Given the description of an element on the screen output the (x, y) to click on. 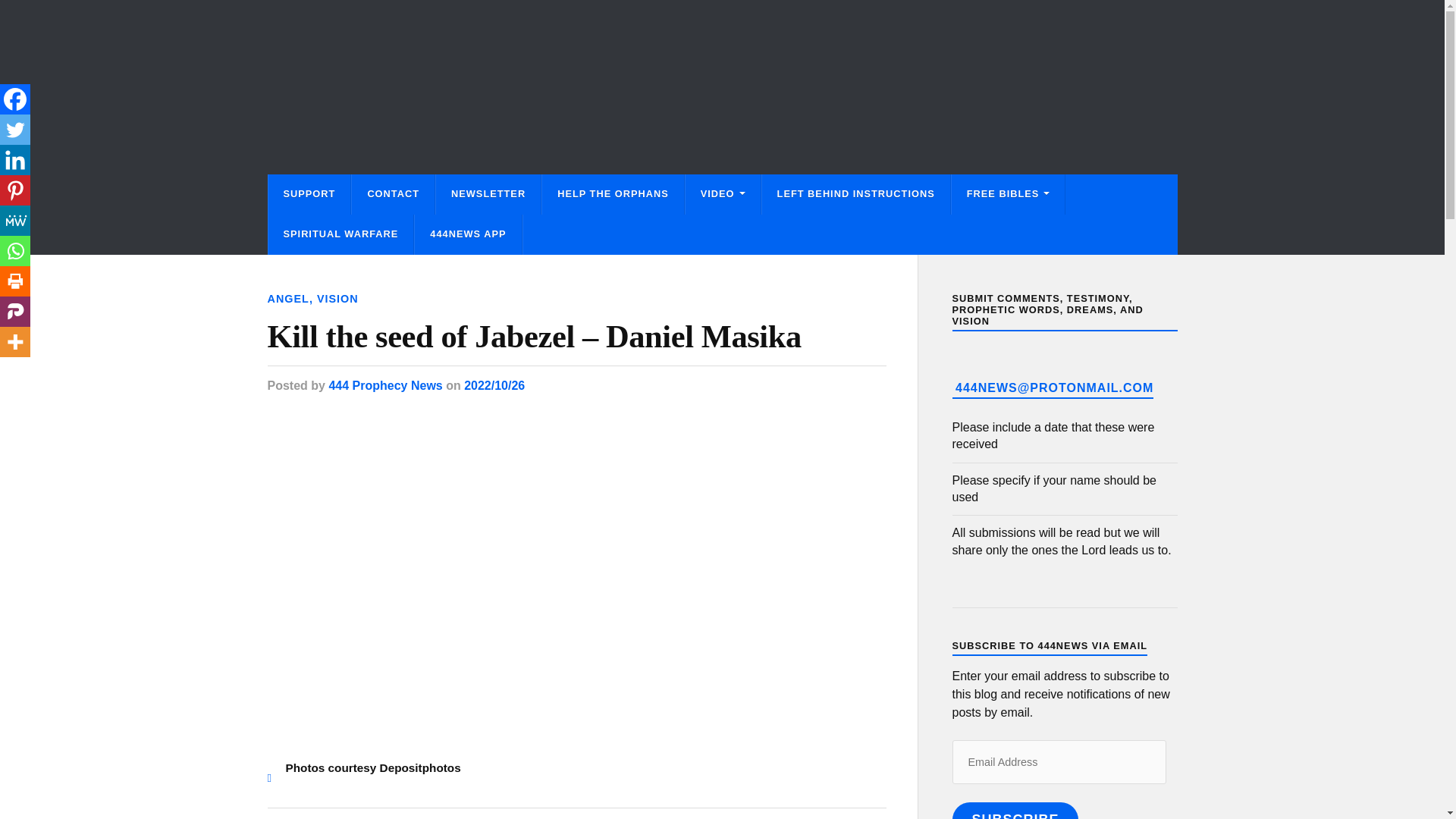
CONTACT (392, 194)
NEWSLETTER (487, 194)
MeWe (15, 220)
Facebook (15, 99)
Linkedin (15, 159)
444NEWS APP (467, 234)
444 Prophecy News (385, 385)
VISION (337, 298)
VIDEO (722, 194)
Twitter (15, 129)
